Given the description of an element on the screen output the (x, y) to click on. 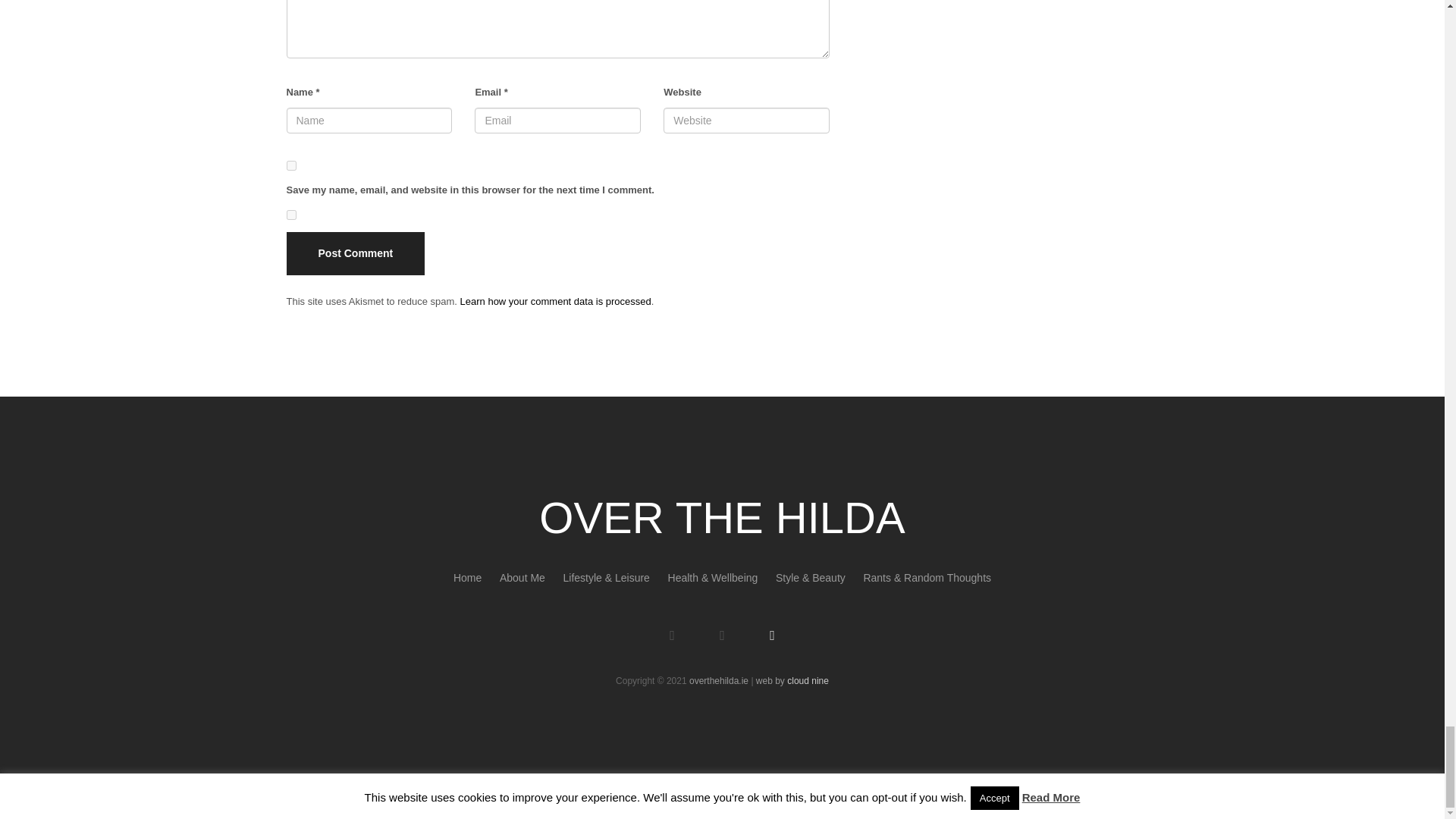
yes (291, 165)
yes (291, 214)
Post Comment (355, 252)
